Given the description of an element on the screen output the (x, y) to click on. 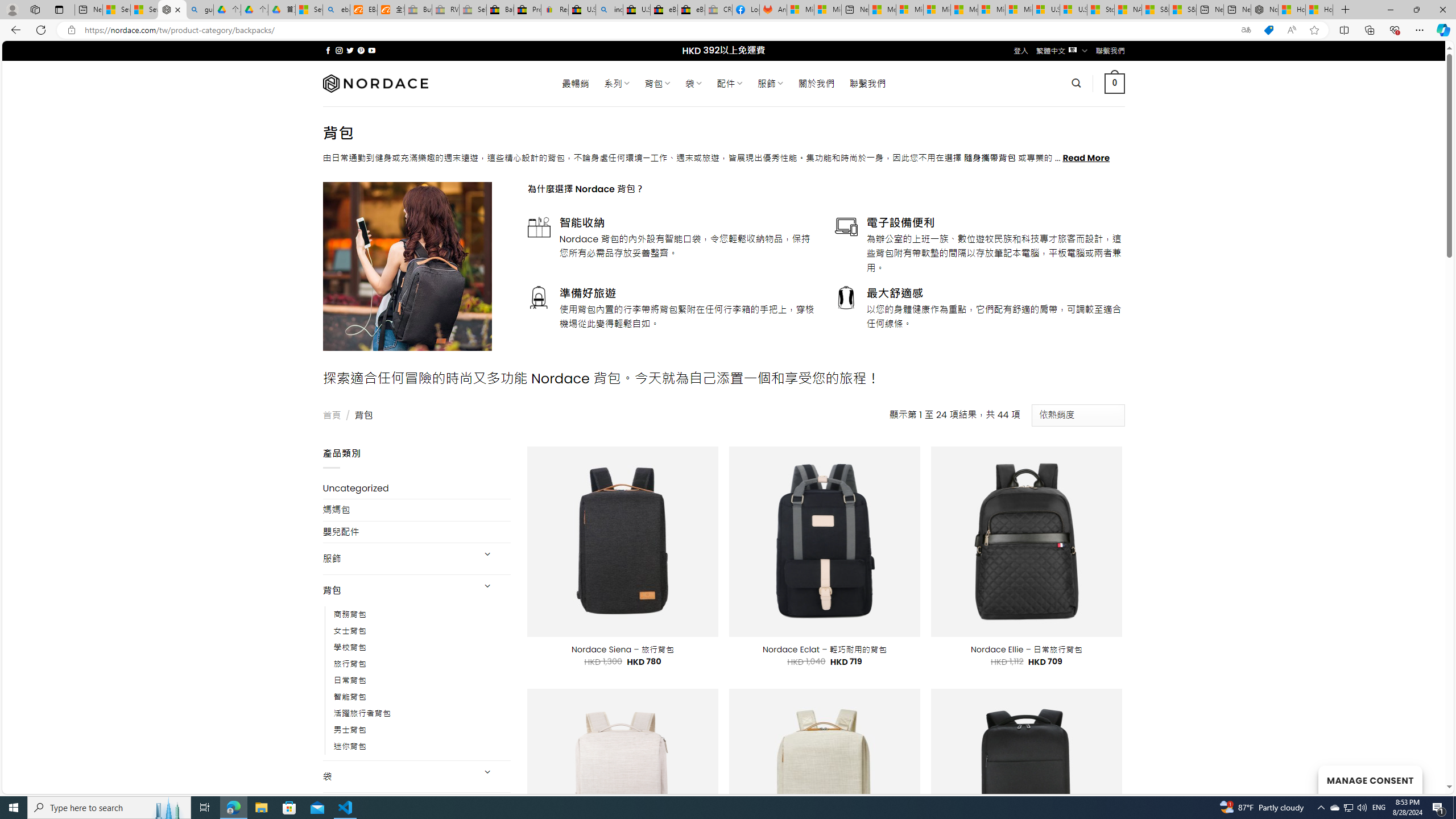
Read More (1085, 157)
